Given the description of an element on the screen output the (x, y) to click on. 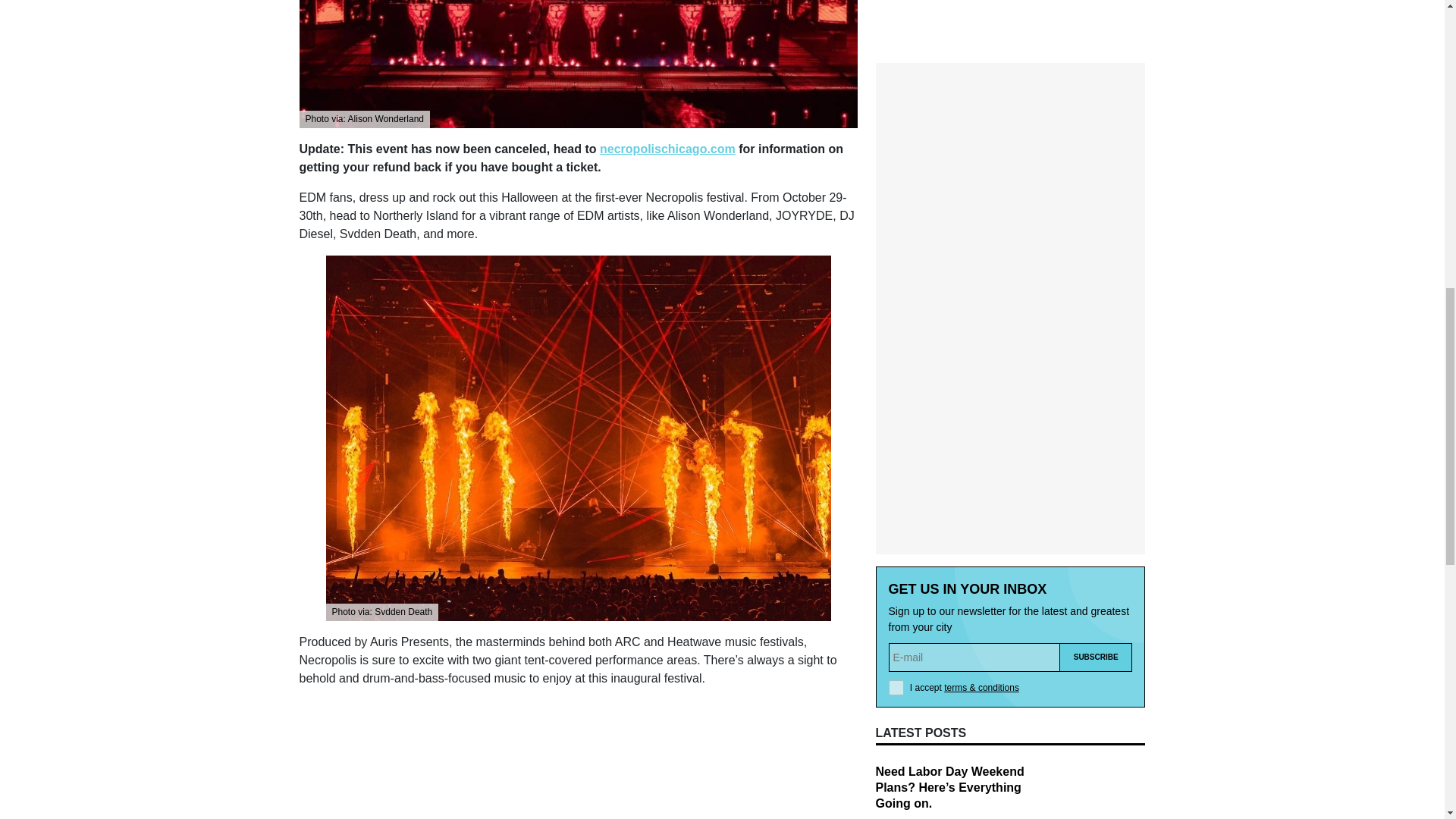
AUGUST 15, 2024 (913, 615)
necropolischicago.com (667, 148)
The Best Free Things to Do In Chicago This Week (960, 664)
AUGUST 16, 2024 (913, 532)
Subscribe (1095, 360)
The Best Things To Do In Chicago This Weekend (947, 581)
Subscribe (1095, 360)
AUGUST 13, 2024 (913, 698)
1 (896, 391)
